Given the description of an element on the screen output the (x, y) to click on. 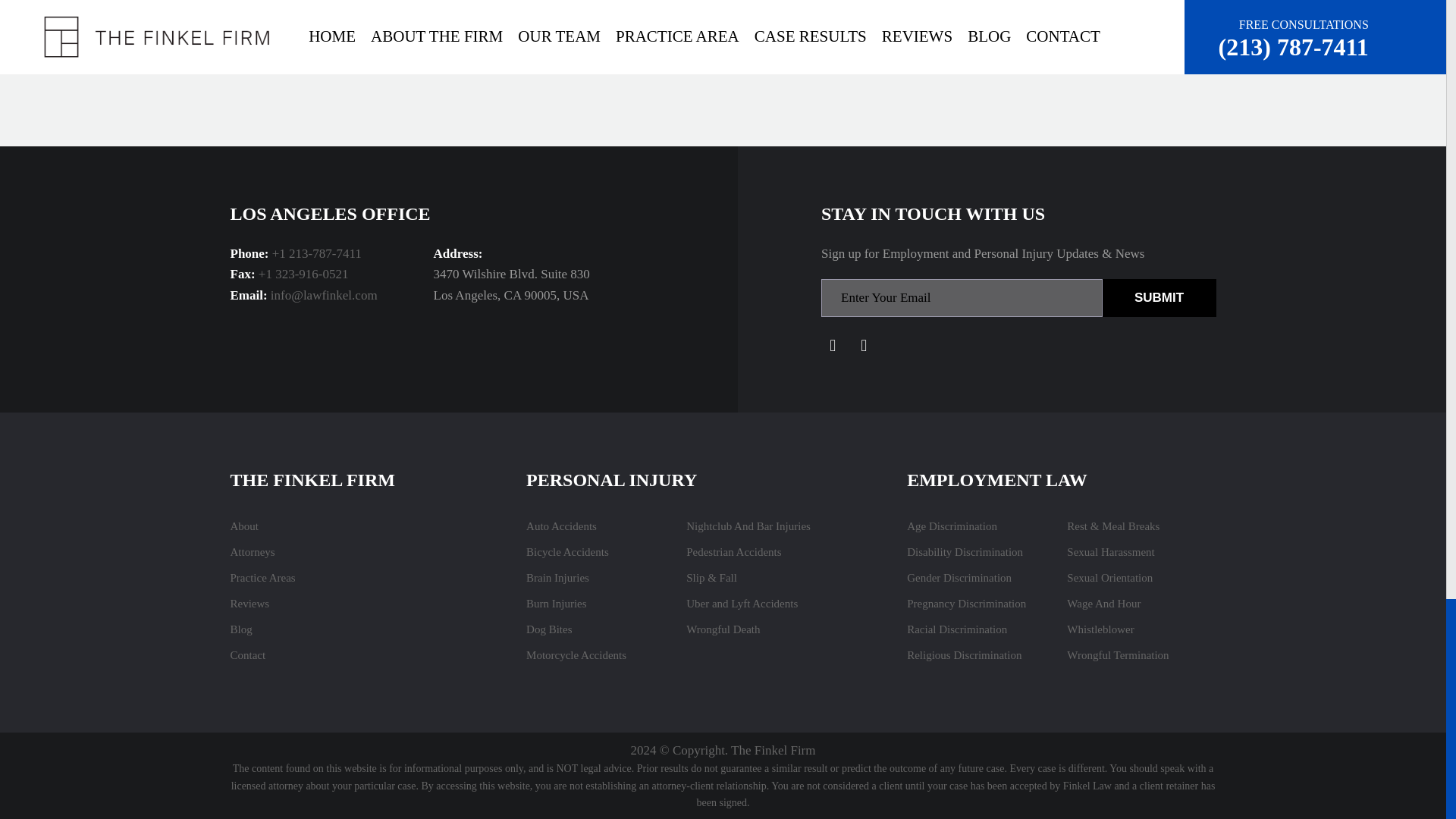
Practice Areas (262, 577)
Attorneys (252, 551)
Age Discrimination (952, 526)
Wrongful Death (722, 629)
Disability Discrimination (965, 551)
Auto Accidents (560, 526)
SUBMIT (1158, 297)
SUBMIT (1158, 297)
About (244, 526)
Dog Bites (548, 629)
Contact (248, 654)
Blog (240, 629)
Burn Injuries (555, 603)
Pedestrian Accidents (732, 551)
Nightclub And Bar Injuries (747, 526)
